Given the description of an element on the screen output the (x, y) to click on. 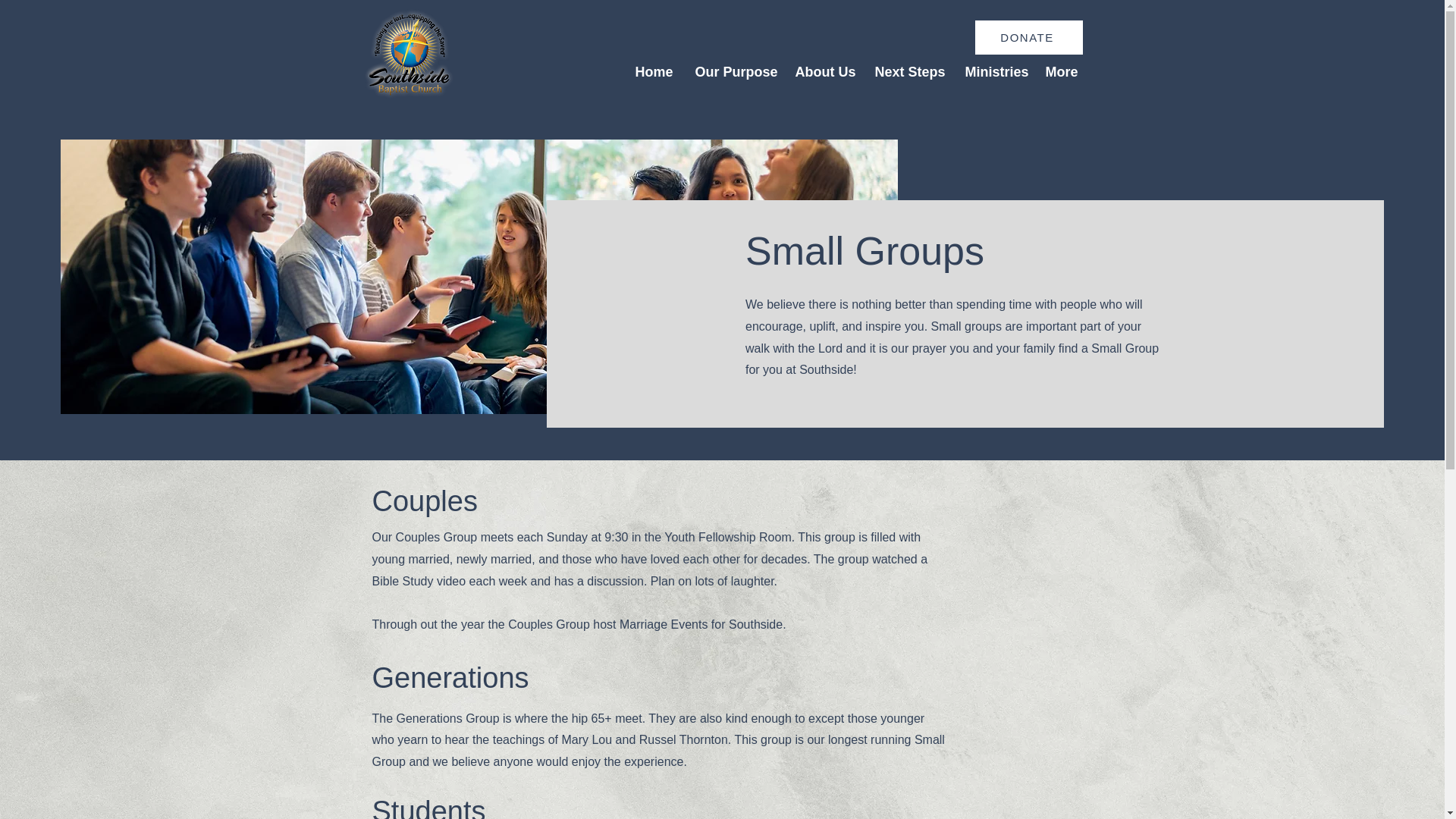
Next Steps (908, 71)
Ministries (993, 71)
About Us (823, 71)
DONATE (1029, 37)
Home (652, 71)
Our Purpose (734, 71)
